Given the description of an element on the screen output the (x, y) to click on. 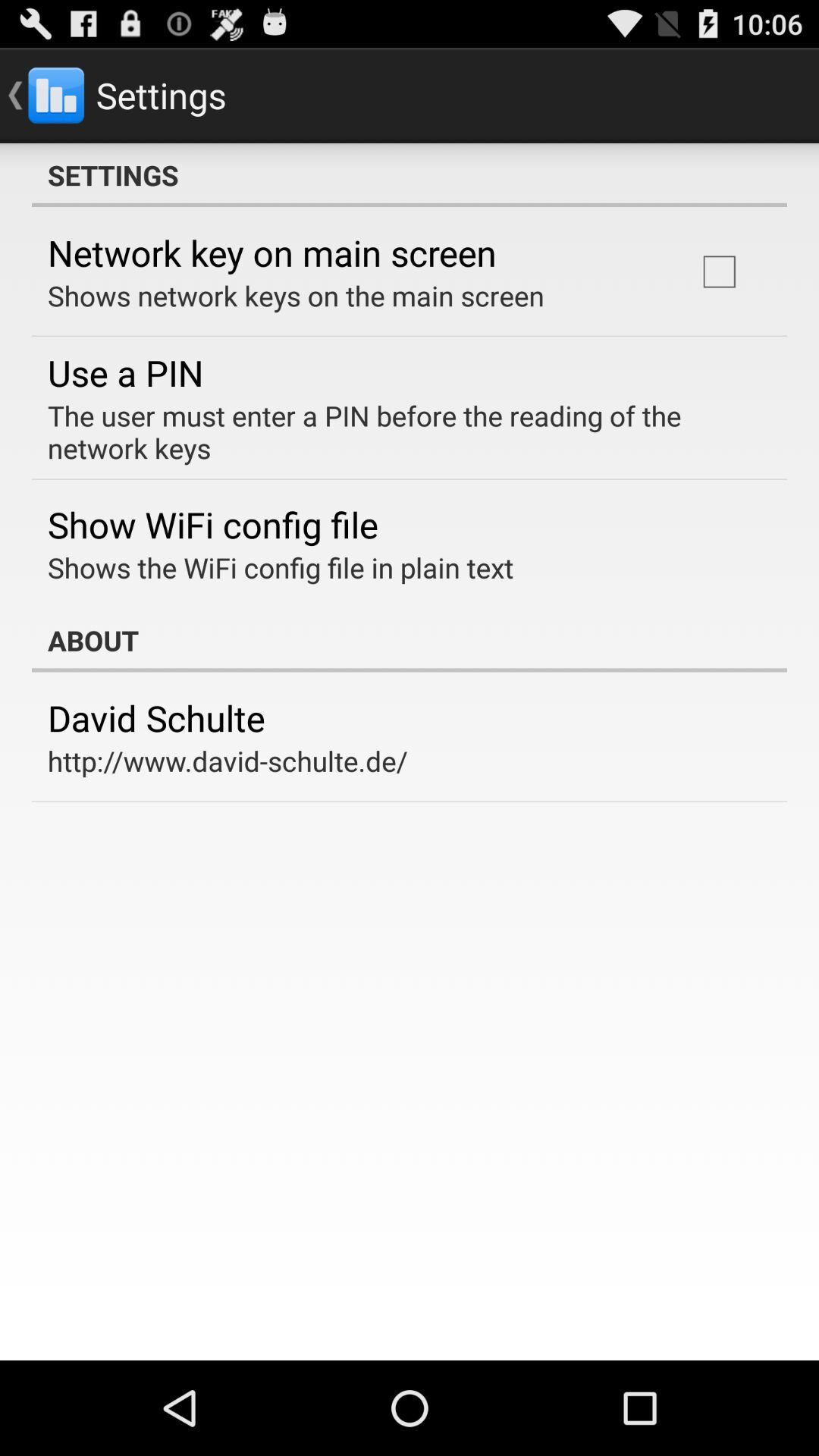
tap icon next to the shows network keys (719, 271)
